Given the description of an element on the screen output the (x, y) to click on. 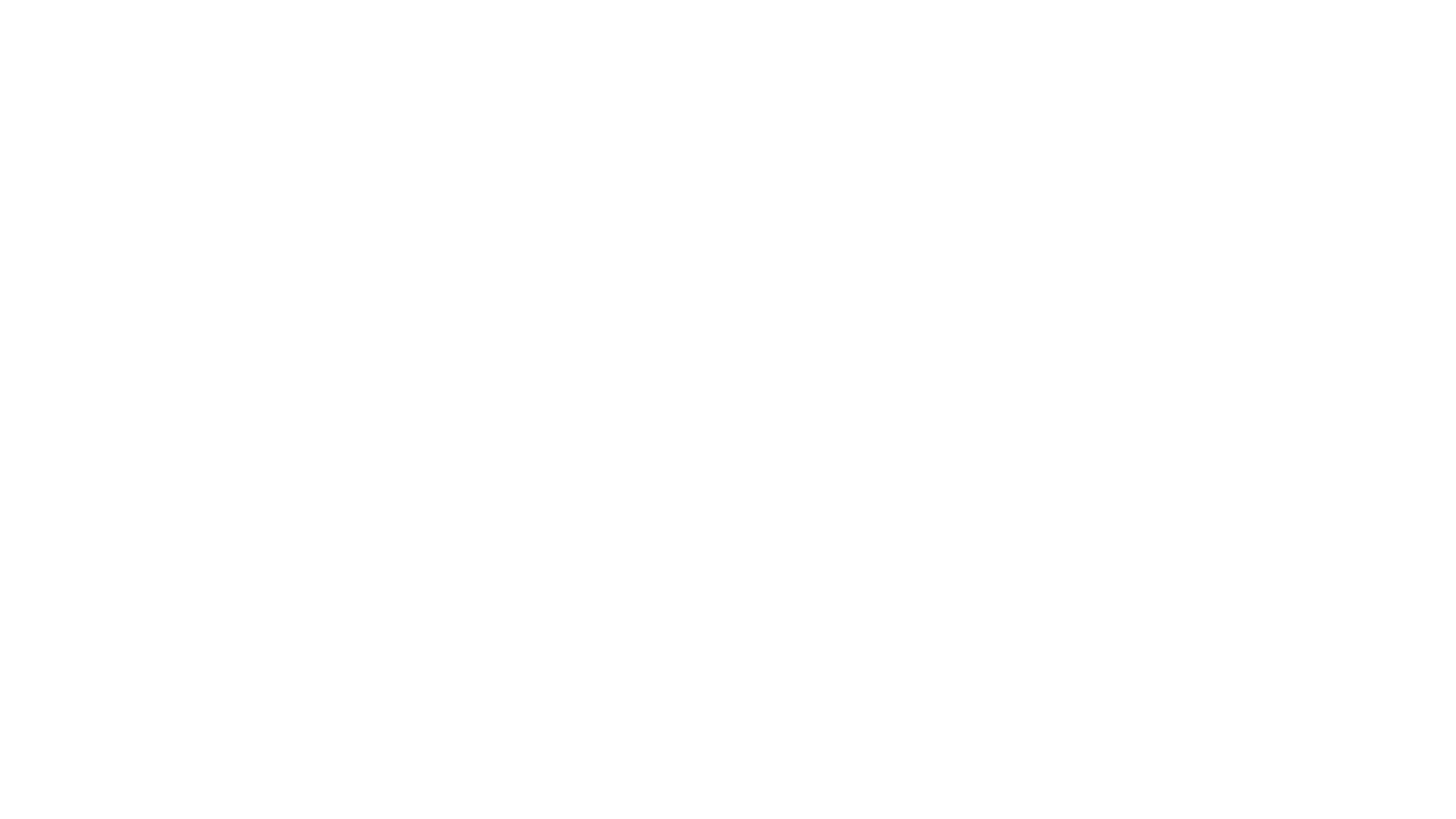
Cloudflare Element type: text (798, 799)
